Given the description of an element on the screen output the (x, y) to click on. 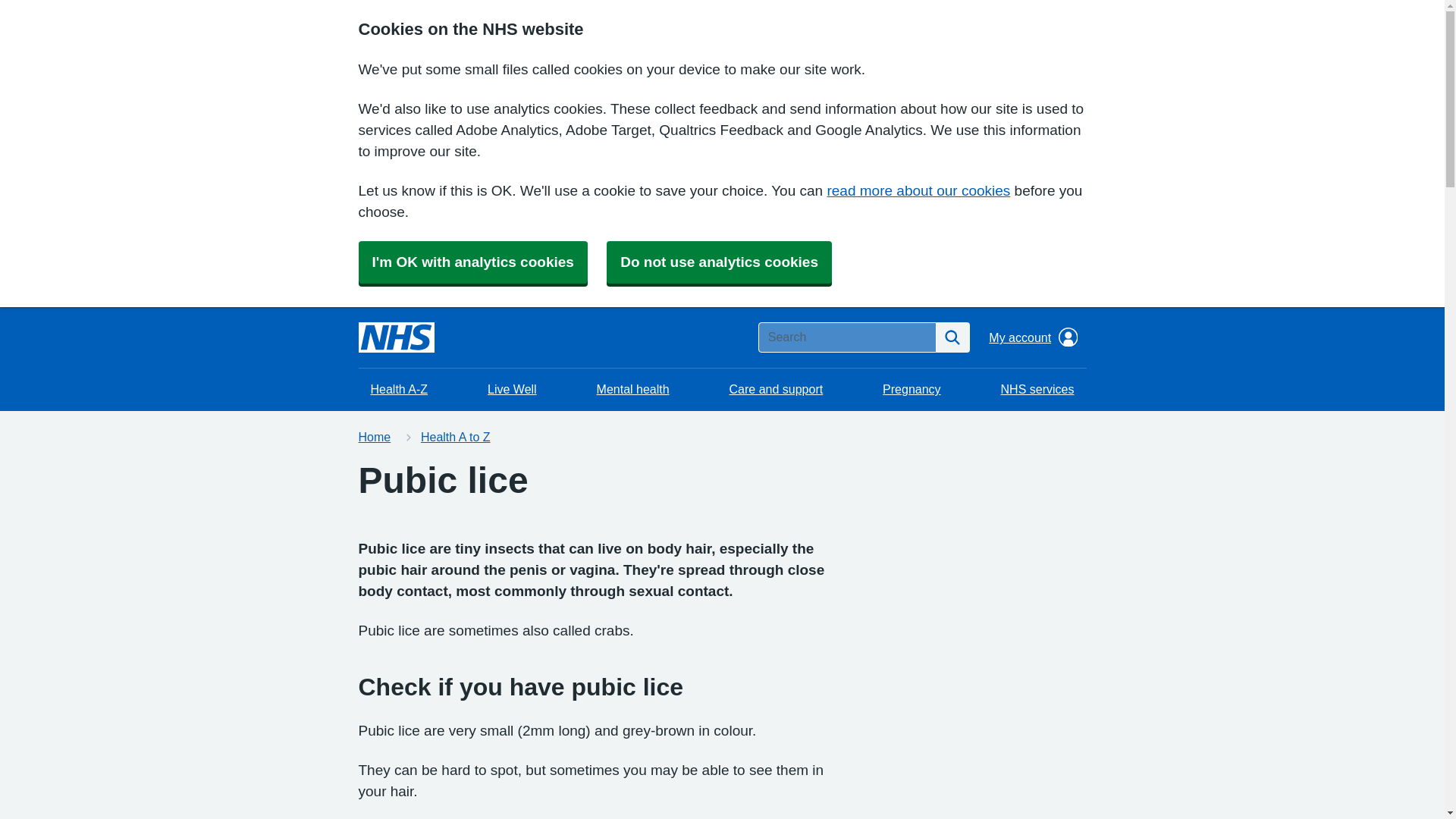
Mental health (633, 389)
Health A to Z (455, 436)
I'm OK with analytics cookies (472, 261)
NHS services (1037, 389)
Health A-Z (398, 389)
Home (374, 436)
Pregnancy (911, 389)
read more about our cookies (918, 190)
Care and support (776, 389)
Search (952, 337)
